Given the description of an element on the screen output the (x, y) to click on. 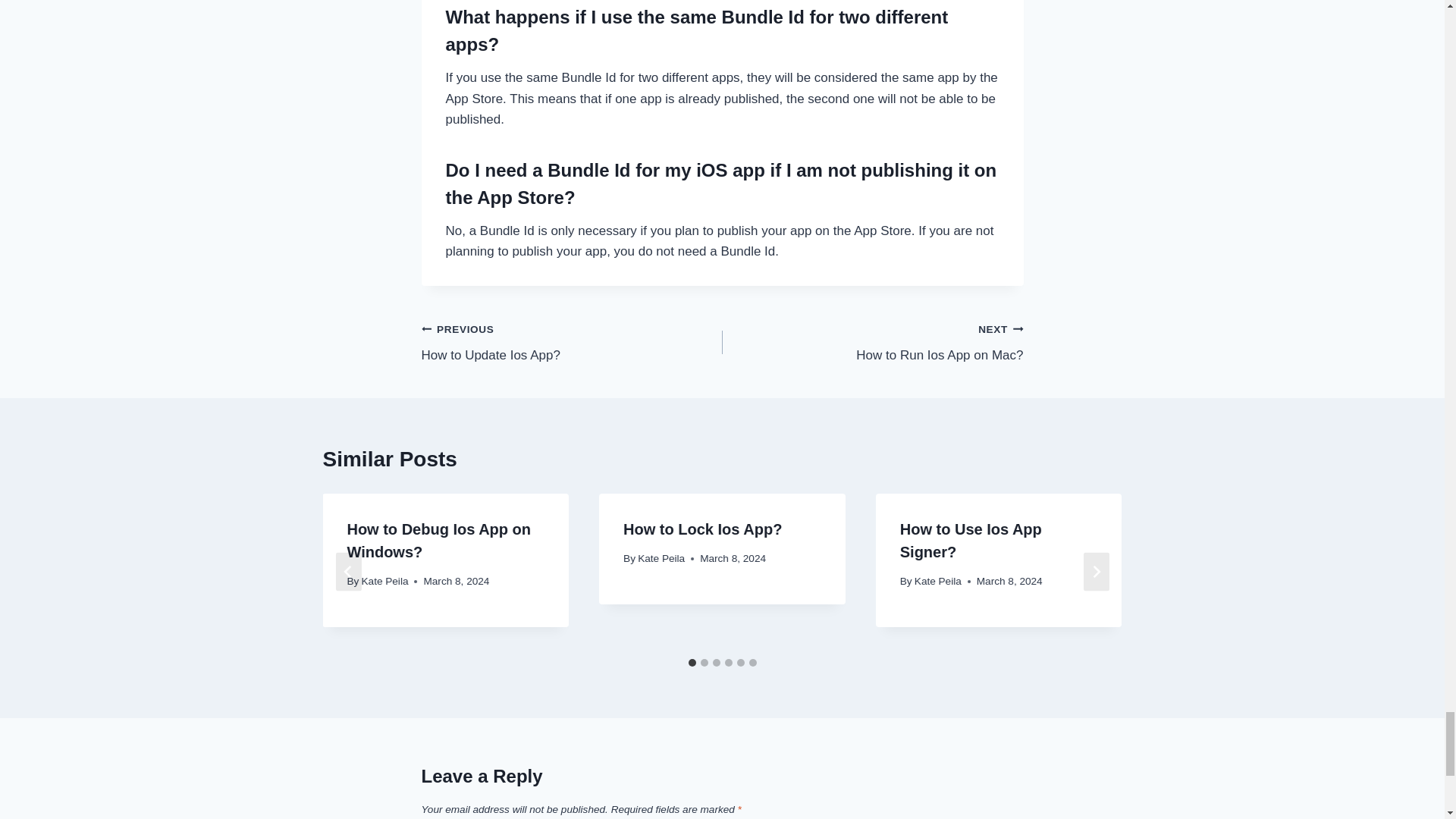
How to Debug Ios App on Windows? (438, 540)
Kate Peila (872, 342)
